Given the description of an element on the screen output the (x, y) to click on. 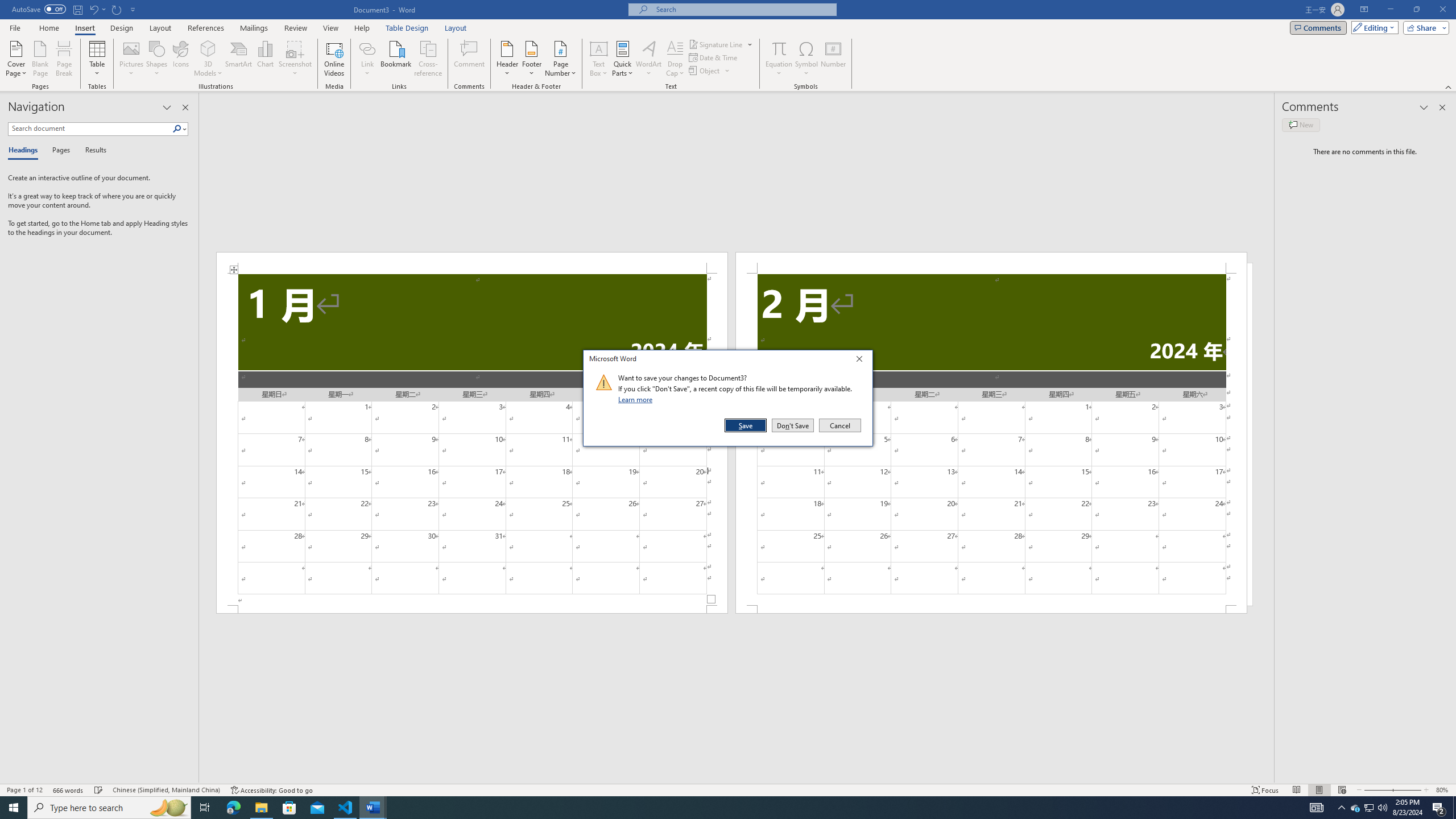
Comment (469, 58)
Text Box (598, 58)
Don't Save (792, 425)
Pictures (131, 58)
Date & Time... (714, 56)
Cover Page (16, 58)
